Given the description of an element on the screen output the (x, y) to click on. 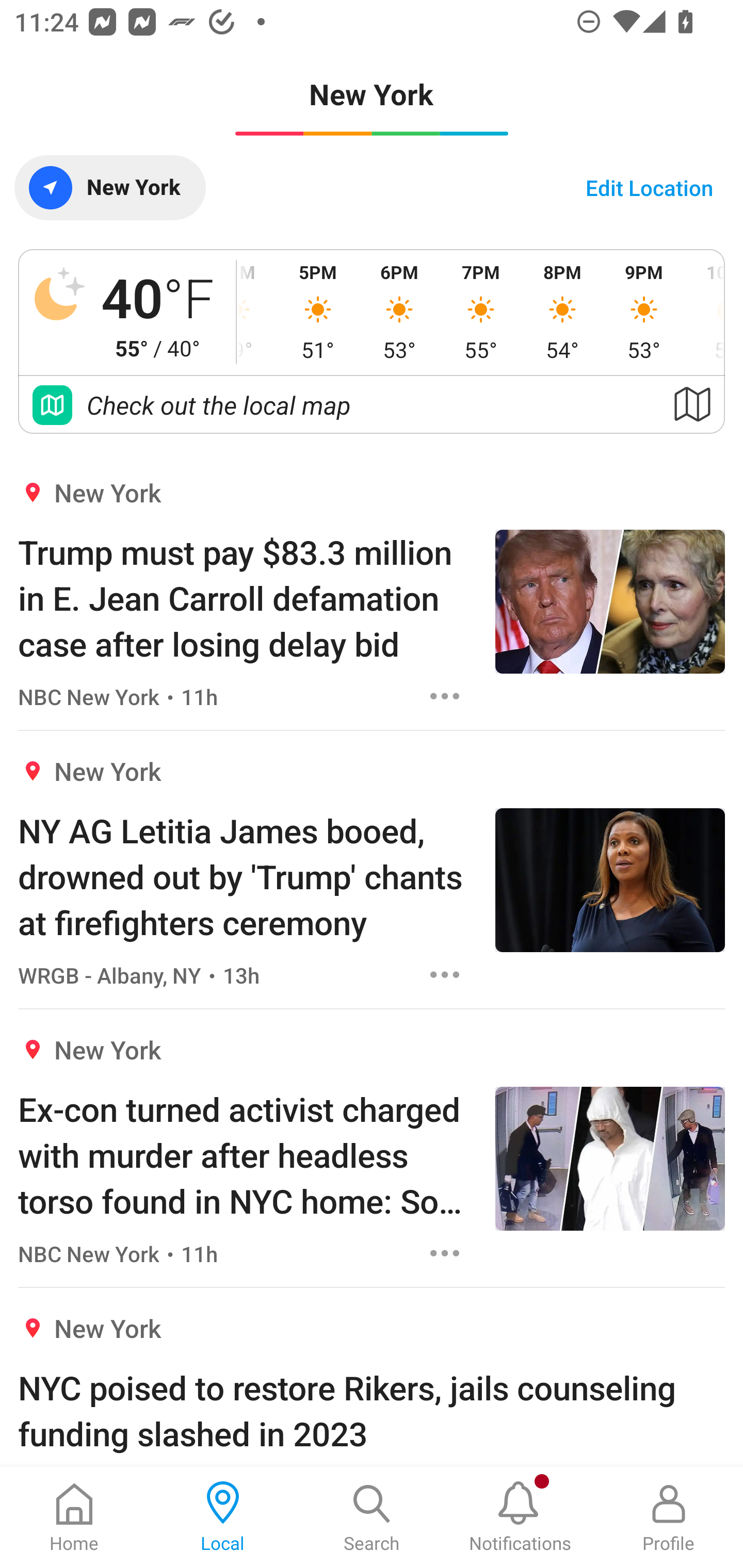
New York (109, 187)
Edit Location (648, 187)
5PM 51° (317, 311)
6PM 53° (398, 311)
7PM 55° (480, 311)
8PM 54° (562, 311)
9PM 53° (644, 311)
Check out the local map (371, 405)
Options (444, 696)
Options (444, 975)
Options (444, 1253)
Home (74, 1517)
Search (371, 1517)
Notifications, New notification Notifications (519, 1517)
Profile (668, 1517)
